Given the description of an element on the screen output the (x, y) to click on. 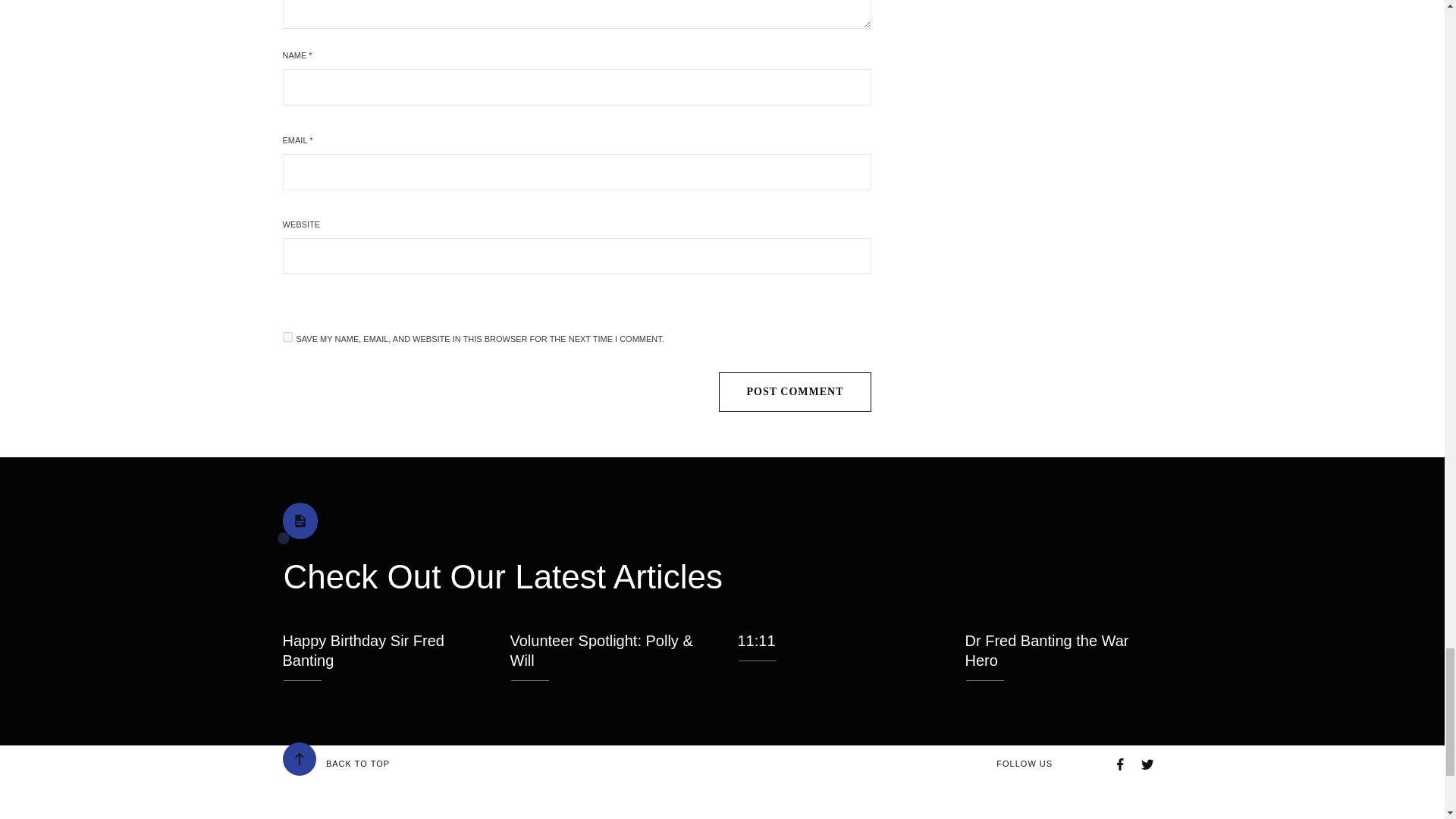
11:11 (755, 640)
Happy Birthday Sir Fred Banting (363, 650)
yes (287, 337)
